Given the description of an element on the screen output the (x, y) to click on. 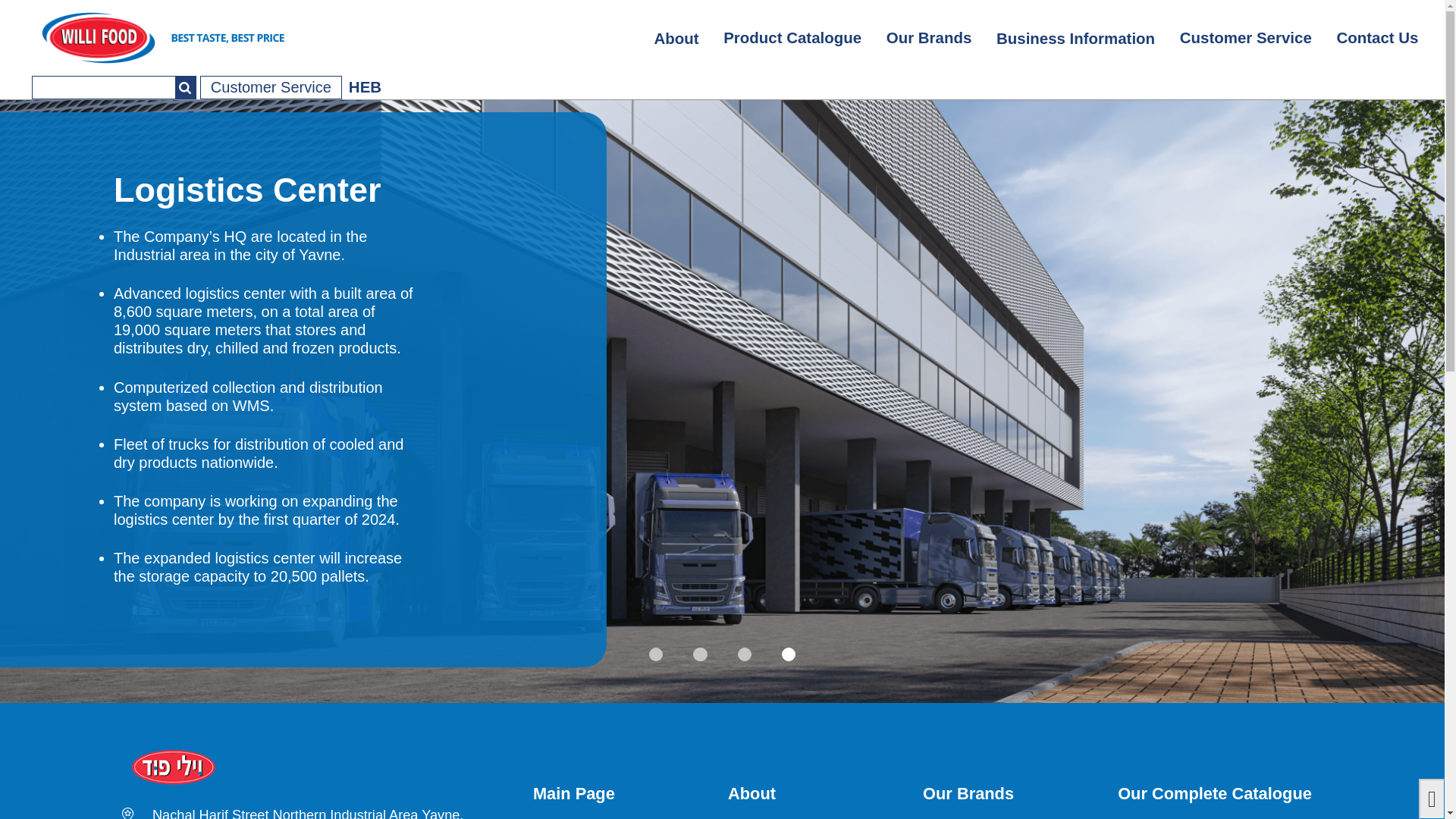
Contact Us (1377, 38)
Our Brands (968, 793)
Main Page (573, 793)
HEB (365, 87)
Customer Service (1245, 38)
About (752, 793)
Customer Service (271, 87)
About (676, 38)
Our Complete Catalogue (1214, 793)
Go to: homepage (320, 768)
Business Information (1075, 38)
Go to: homepage (228, 37)
Product Catalogue (793, 38)
Our Brands (928, 38)
Willi Food language switch (365, 87)
